Given the description of an element on the screen output the (x, y) to click on. 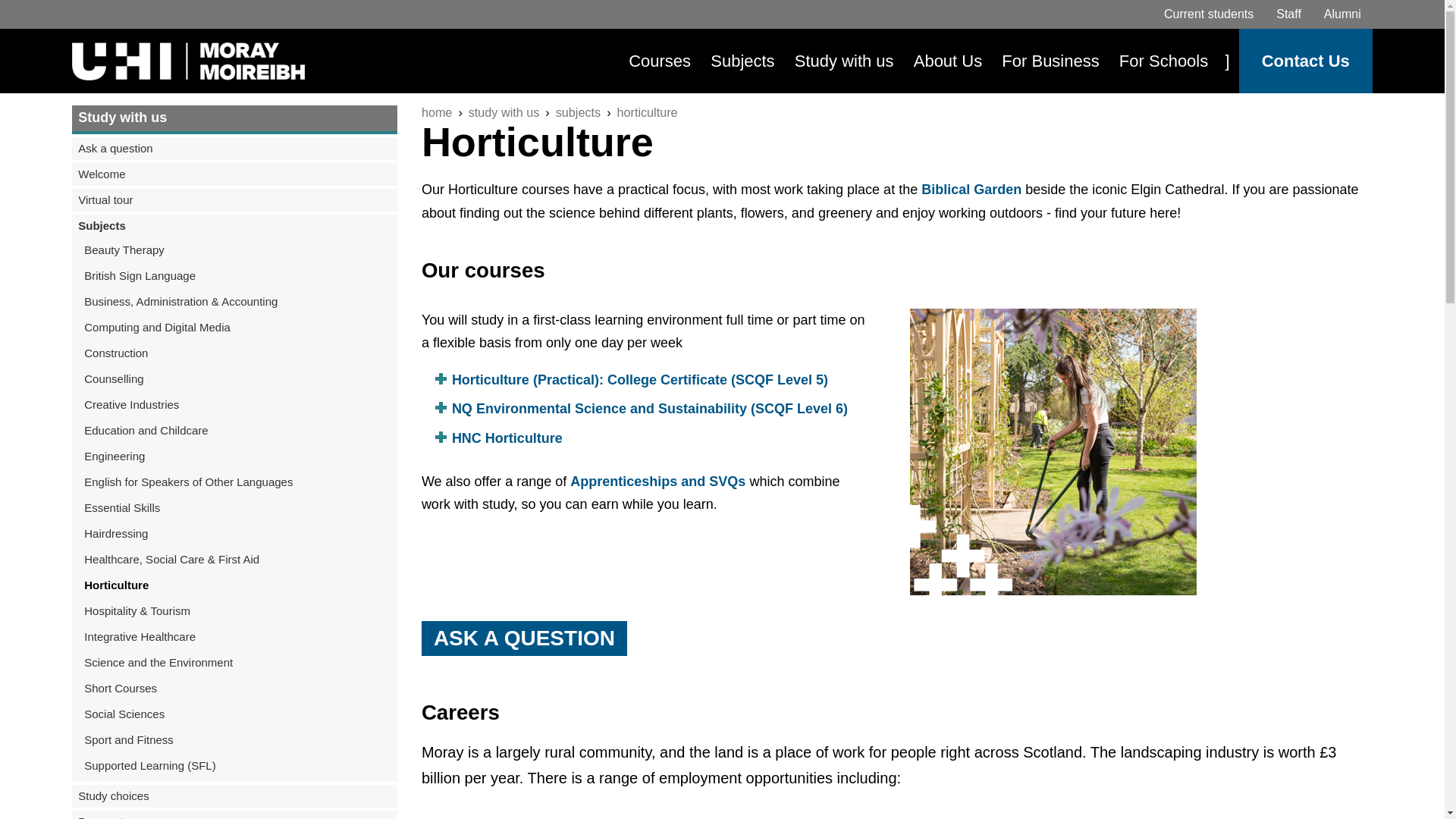
study with us (504, 111)
Alumni (1342, 13)
horticulture (647, 111)
Contact Us (1304, 60)
subjects (577, 111)
For Schools (1163, 60)
photo of horticulture student working in the biblical garden (1053, 451)
